Given the description of an element on the screen output the (x, y) to click on. 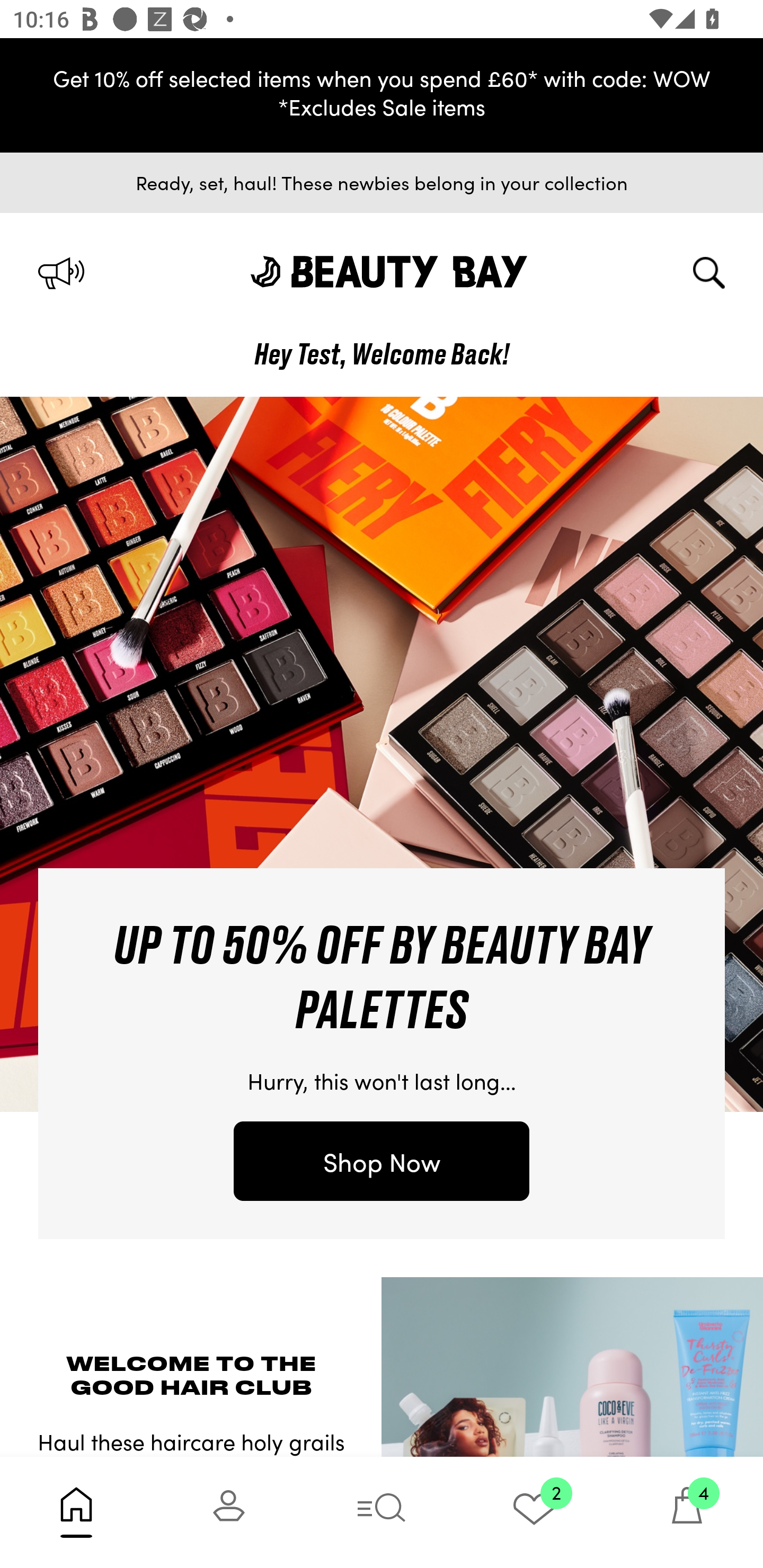
2 (533, 1512)
4 (686, 1512)
